Given the description of an element on the screen output the (x, y) to click on. 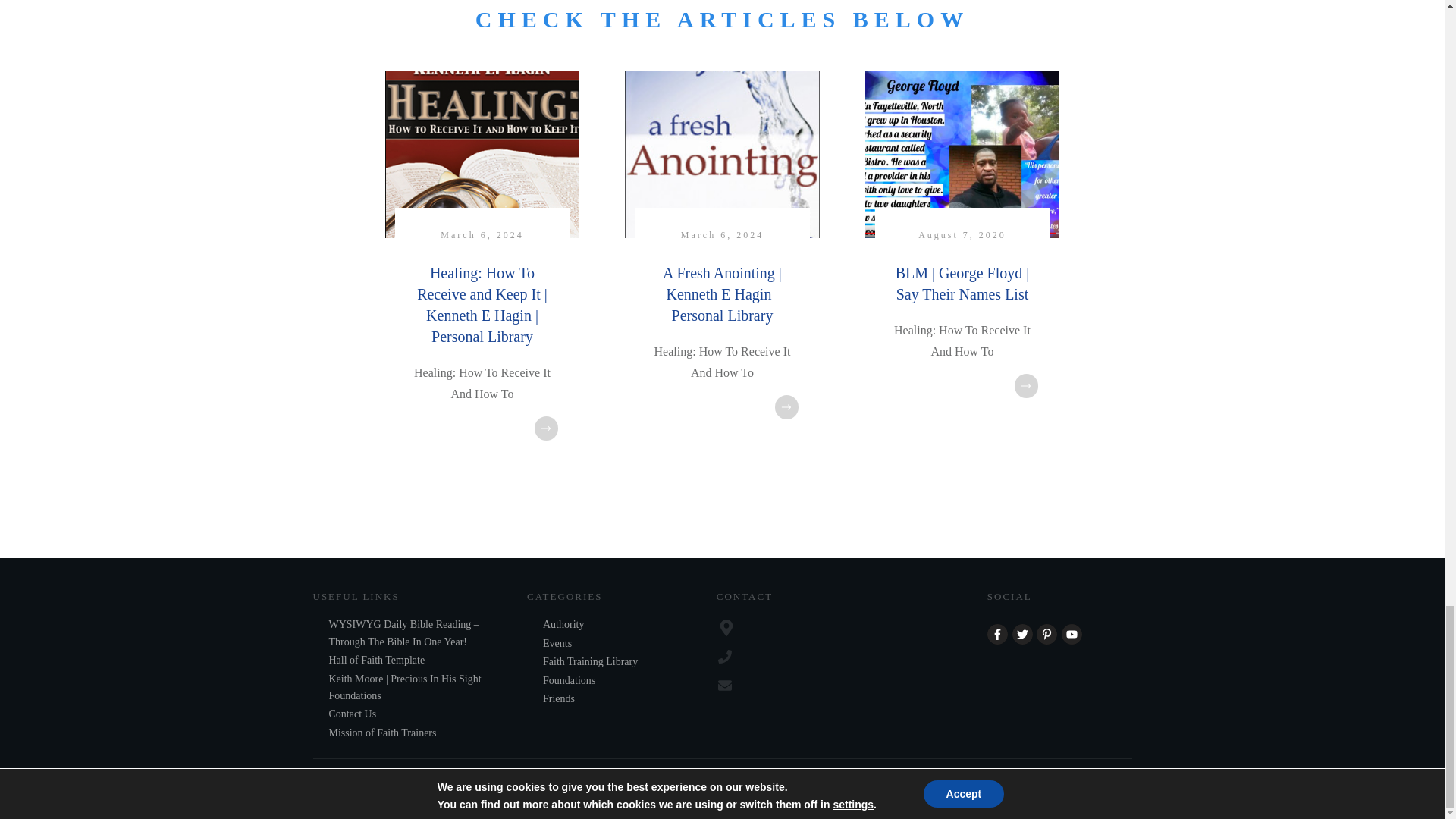
Authority (563, 624)
Mission of Faith Trainers (382, 733)
Hall of Faith Template (377, 660)
Contact Us (353, 713)
